Given the description of an element on the screen output the (x, y) to click on. 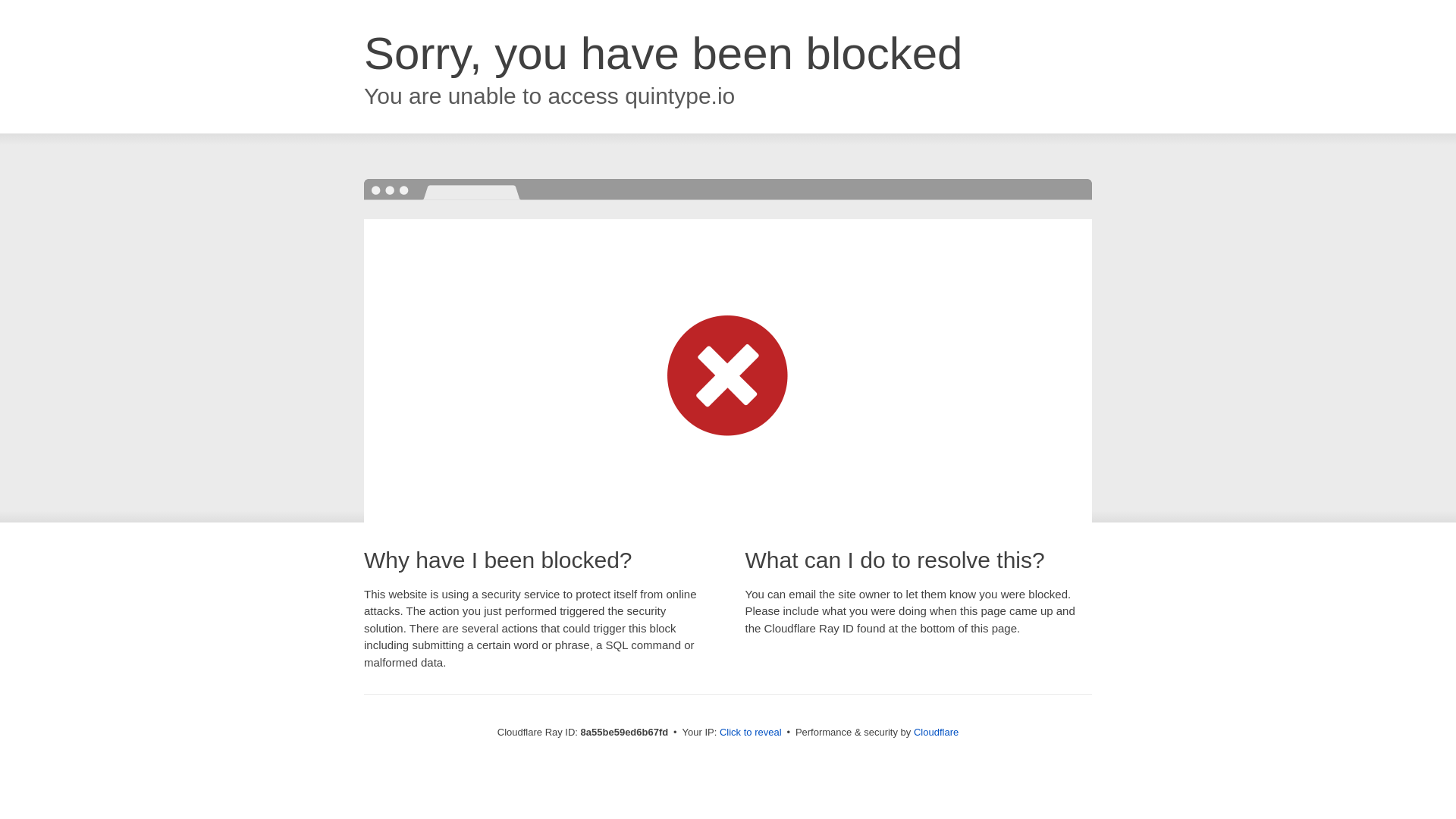
Cloudflare (936, 731)
Click to reveal (750, 732)
